Given the description of an element on the screen output the (x, y) to click on. 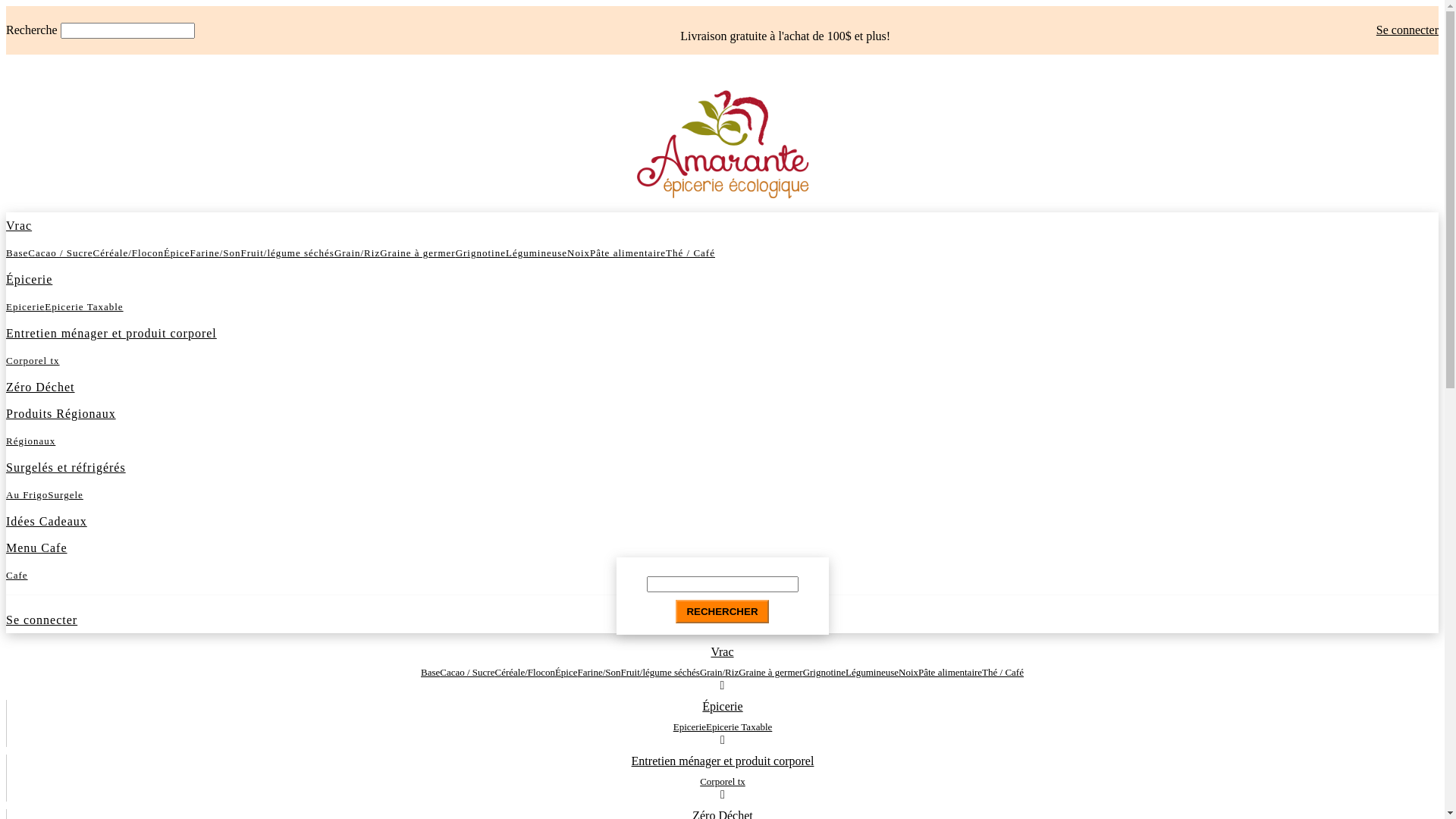
Surgele Element type: text (64, 494)
Grain/Riz Element type: text (718, 671)
Se connecter Element type: text (1407, 29)
Corporel tx Element type: text (32, 360)
Epicerie Element type: text (25, 306)
Cafe Element type: text (17, 574)
Grignotine Element type: text (824, 671)
Cacao / Sucre Element type: text (466, 671)
Menu Cafe Element type: text (36, 547)
Corporel tx Element type: text (722, 781)
Grignotine Element type: text (480, 252)
Epicerie Element type: text (689, 726)
Epicerie Taxable Element type: text (83, 306)
Epicerie Taxable Element type: text (738, 726)
Noix Element type: text (578, 252)
Vrac Element type: text (18, 225)
Se connecter Element type: text (41, 619)
RECHERCHER Element type: text (721, 611)
Vrac Element type: text (721, 651)
Cacao / Sucre Element type: text (60, 252)
Grain/Riz Element type: text (356, 252)
Au Frigo Element type: text (26, 494)
Farine/Son Element type: text (599, 671)
Farine/Son Element type: text (214, 252)
Base Element type: text (429, 671)
Base Element type: text (17, 252)
Noix Element type: text (908, 671)
